Given the description of an element on the screen output the (x, y) to click on. 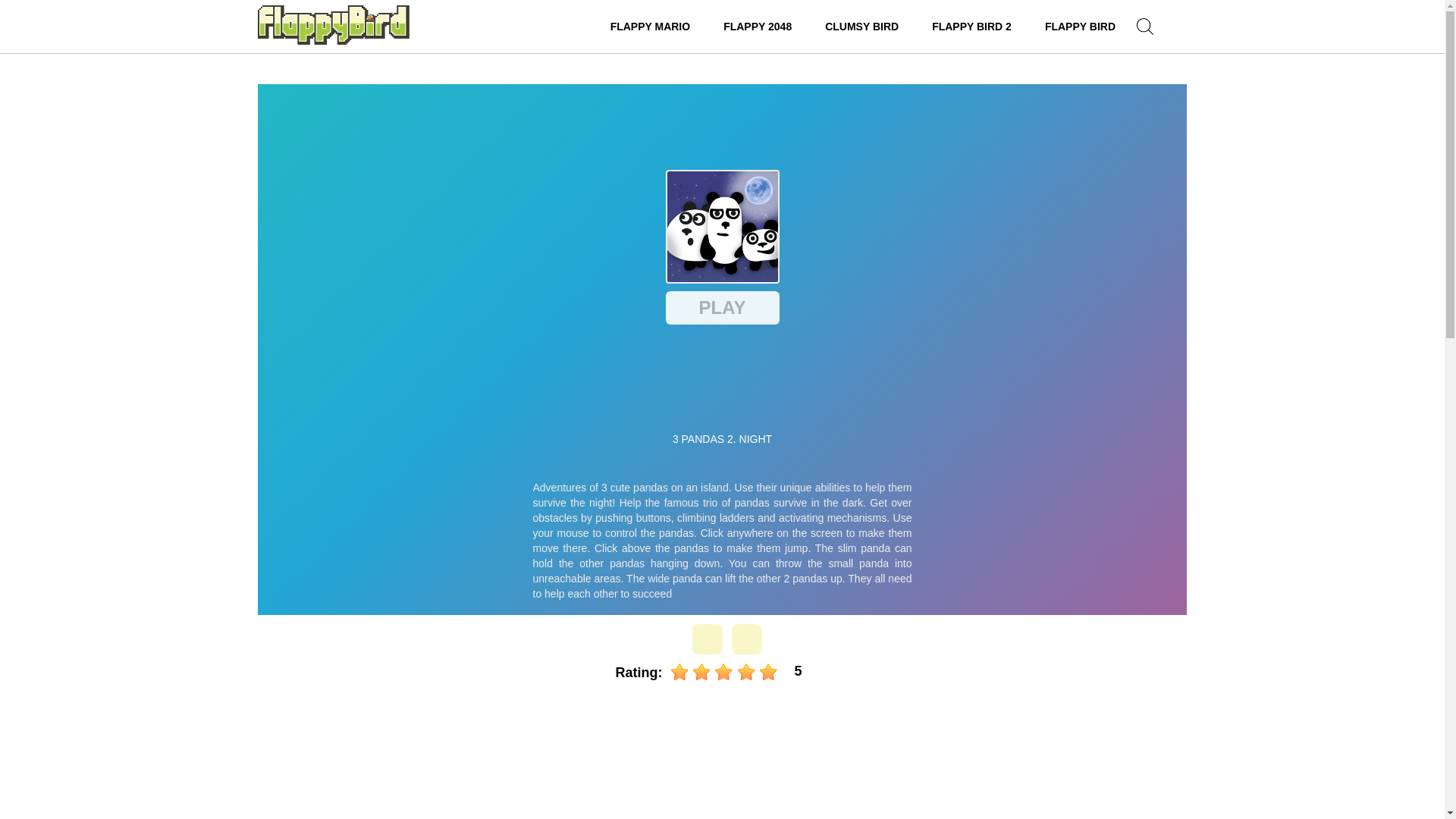
FLAPPY 2048 (757, 25)
good (745, 672)
poor (702, 672)
Advertisement (721, 760)
gorgeous (768, 672)
FLAPPY BIRD (1079, 25)
Flappy Bird (333, 24)
regular (723, 672)
FLAPPY MARIO (650, 25)
bad (679, 672)
CLUMSY BIRD (861, 25)
FLAPPY BIRD 2 (971, 25)
